Given the description of an element on the screen output the (x, y) to click on. 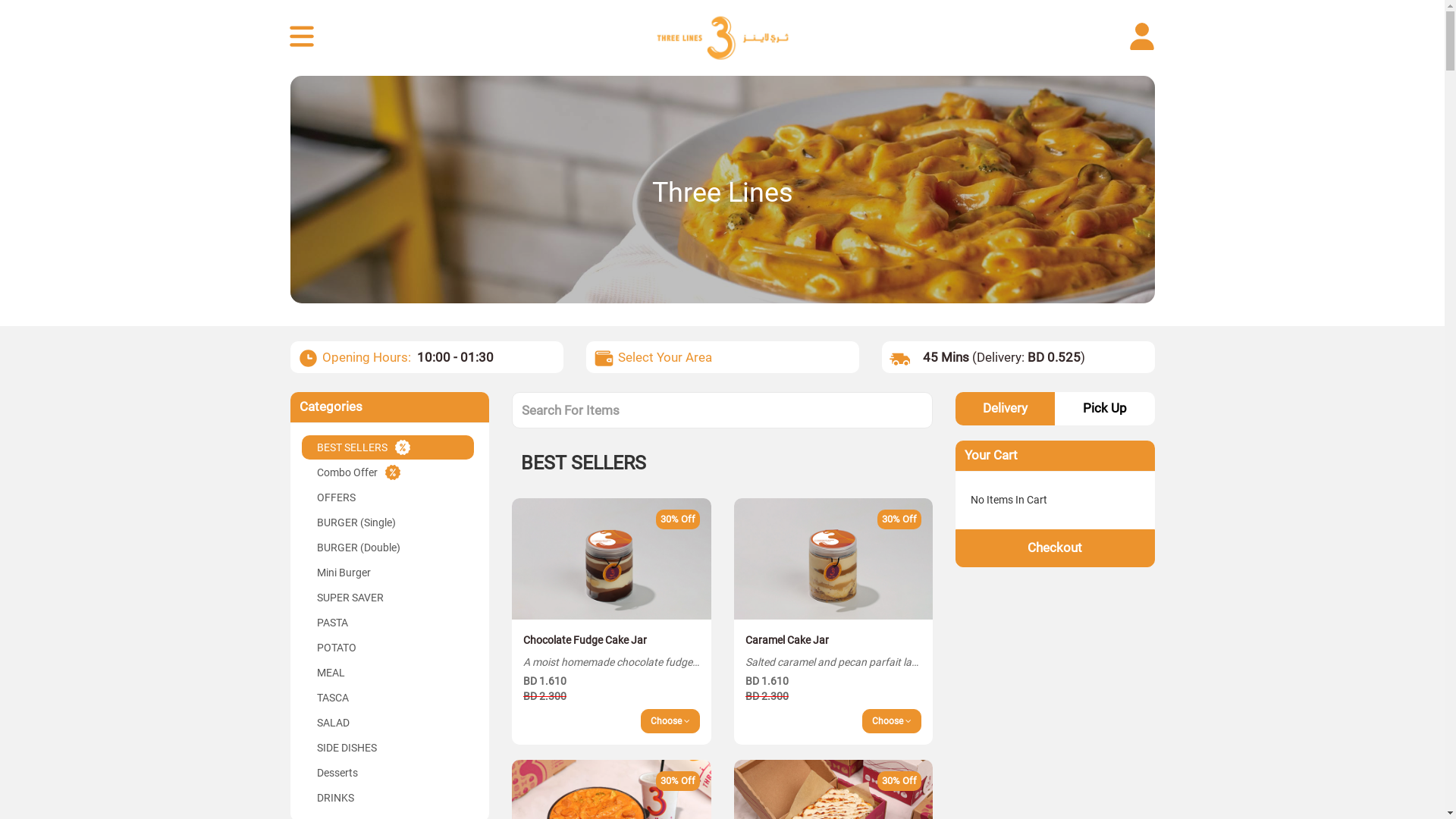
Select Your Area Element type: text (664, 356)
BEST SELLERS Element type: text (387, 447)
Login/Register Element type: hover (1143, 37)
BURGER (Double) Element type: text (387, 547)
BURGER (Single) Element type: text (387, 522)
Mini Burger Element type: text (387, 572)
MEAL Element type: text (387, 672)
PASTA Element type: text (387, 622)
Live Tracking Element type: hover (303, 37)
Pick Up Element type: text (1104, 408)
Desserts Element type: text (387, 772)
SALAD Element type: text (387, 722)
Opening Hours: Element type: text (365, 356)
SUPER SAVER Element type: text (387, 597)
POTATO Element type: text (387, 647)
Caramel Cake Jar Element type: hover (833, 558)
Combo Offer Element type: text (387, 472)
Delivery Element type: text (1004, 408)
OFFERS Element type: text (387, 497)
DRINKS Element type: text (387, 797)
Chocolate Fudge Cake Jar  Element type: hover (611, 558)
SIDE DISHES Element type: text (387, 747)
Checkout Element type: text (1054, 548)
TASCA Element type: text (387, 697)
